Given the description of an element on the screen output the (x, y) to click on. 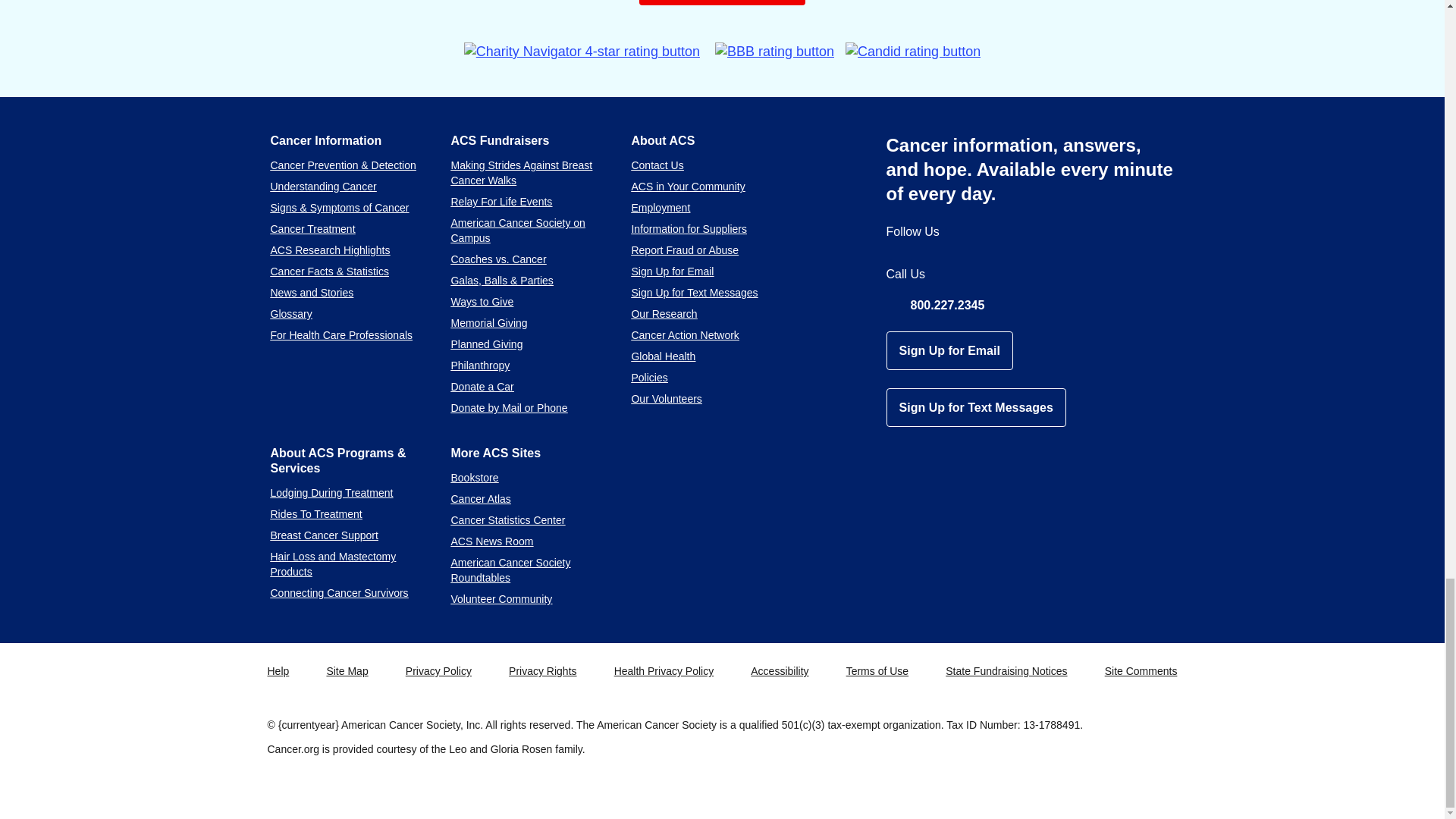
Memorial Giving (488, 322)
Coaches vs. Cancer (497, 259)
For Health Care Professionals (340, 335)
News and Stories (311, 292)
Understanding Cancer (322, 186)
ACS Research Highlights (329, 250)
Planned Giving (485, 344)
Relay For Life Events (500, 201)
Ways to Give (481, 301)
Glossary (290, 313)
